Given the description of an element on the screen output the (x, y) to click on. 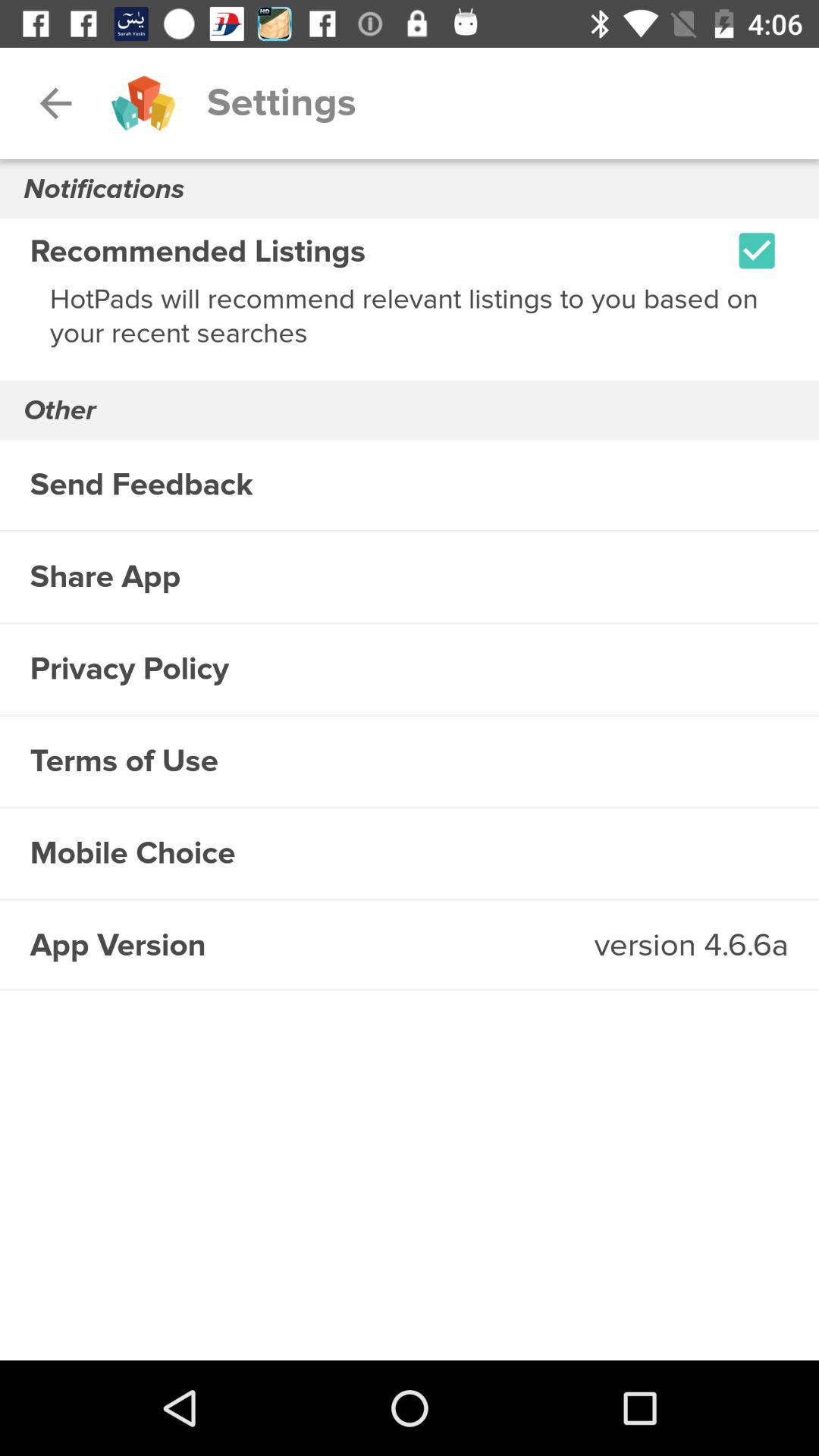
tick button (756, 250)
